Given the description of an element on the screen output the (x, y) to click on. 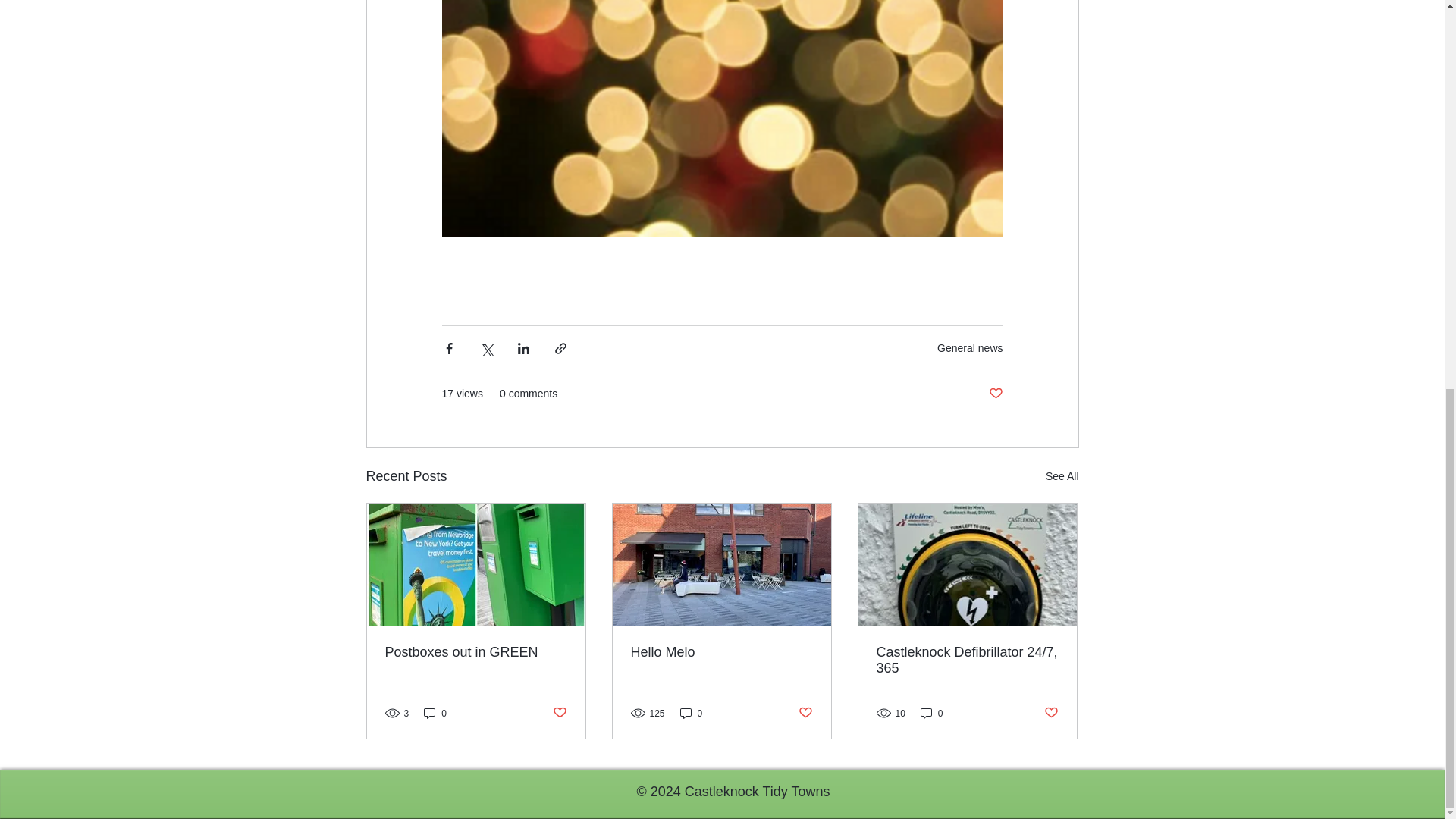
Post not marked as liked (558, 713)
General news (970, 347)
0 (435, 712)
Postboxes out in GREEN (476, 652)
Post not marked as liked (995, 393)
See All (1061, 476)
